Given the description of an element on the screen output the (x, y) to click on. 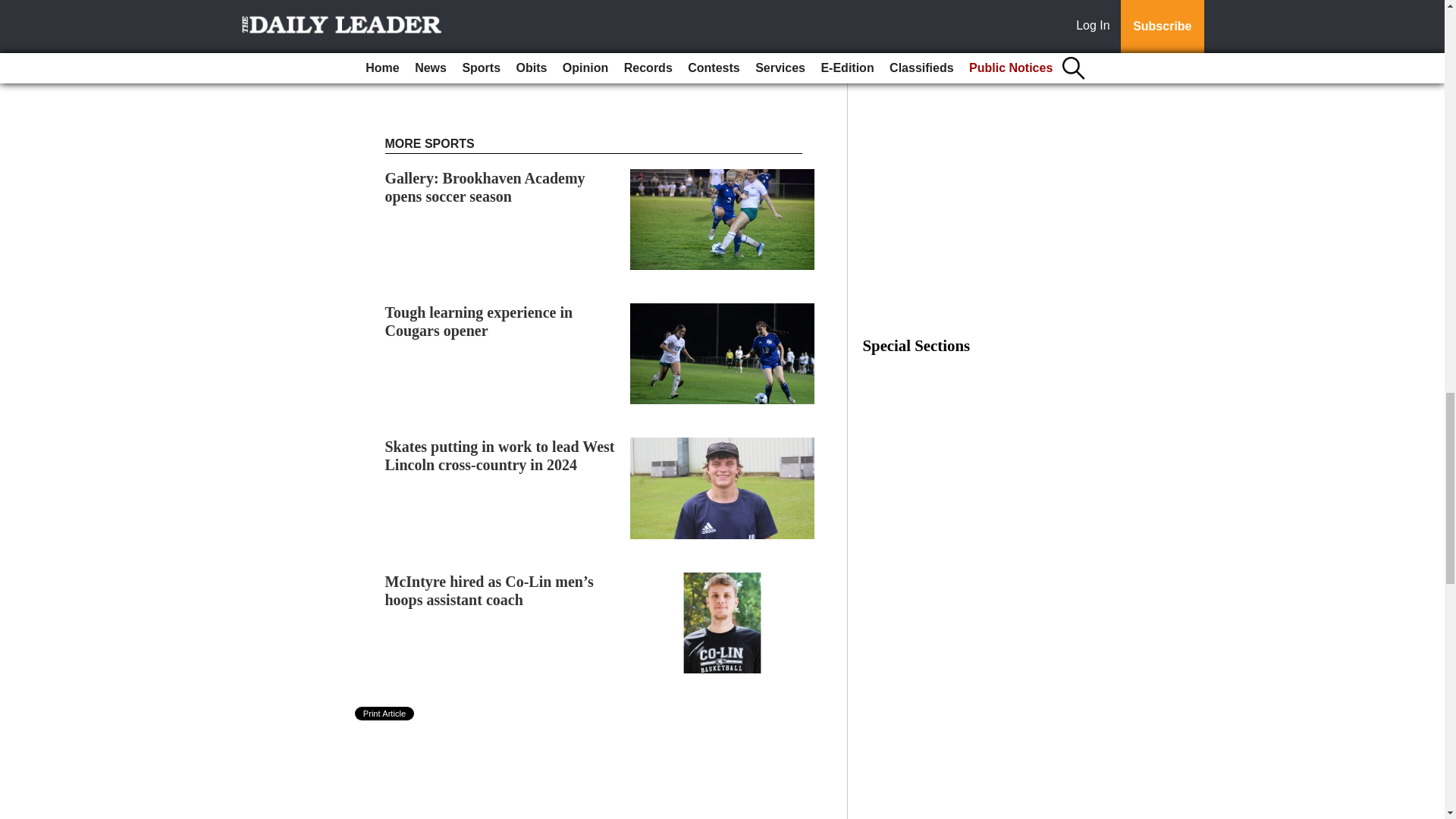
Gallery: Brookhaven Academy opens soccer season (485, 186)
Print Article (384, 713)
Tough learning experience in Cougars opener (479, 321)
Gallery: Brookhaven Academy opens soccer season (485, 186)
Tough learning experience in Cougars opener (479, 321)
